Given the description of an element on the screen output the (x, y) to click on. 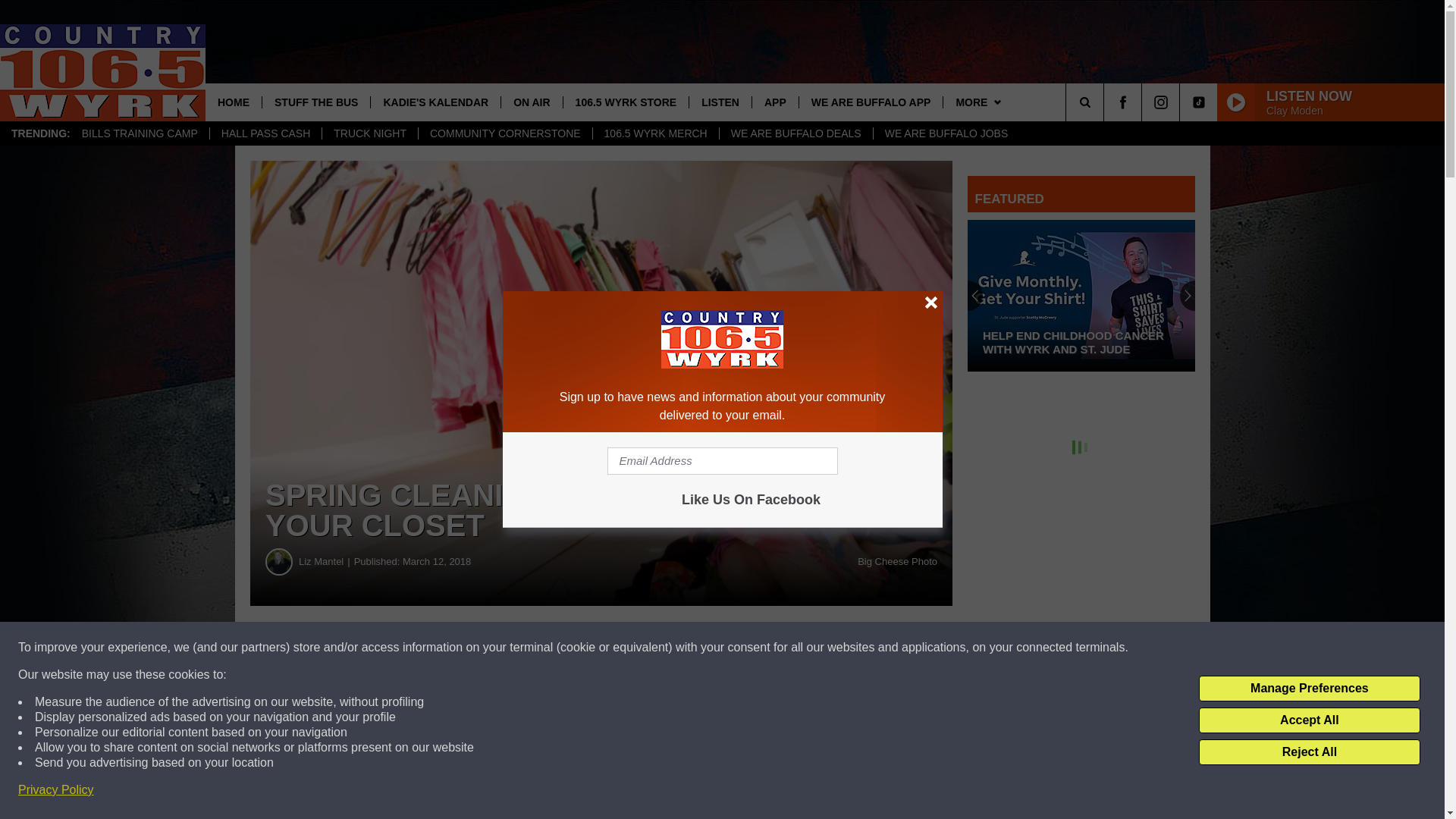
ON AIR (531, 102)
STUFF THE BUS (315, 102)
SEARCH (1106, 102)
106.5 WYRK MERCH (655, 133)
BILLS TRAINING CAMP (139, 133)
SEARCH (1106, 102)
WE ARE BUFFALO JOBS (946, 133)
WE ARE BUFFALO DEALS (795, 133)
106.5 WYRK STORE (625, 102)
HOME (233, 102)
KADIE'S KALENDAR (434, 102)
Share on Facebook (600, 647)
Reject All (1309, 751)
Email Address (722, 461)
COMMUNITY CORNERSTONE (504, 133)
